Given the description of an element on the screen output the (x, y) to click on. 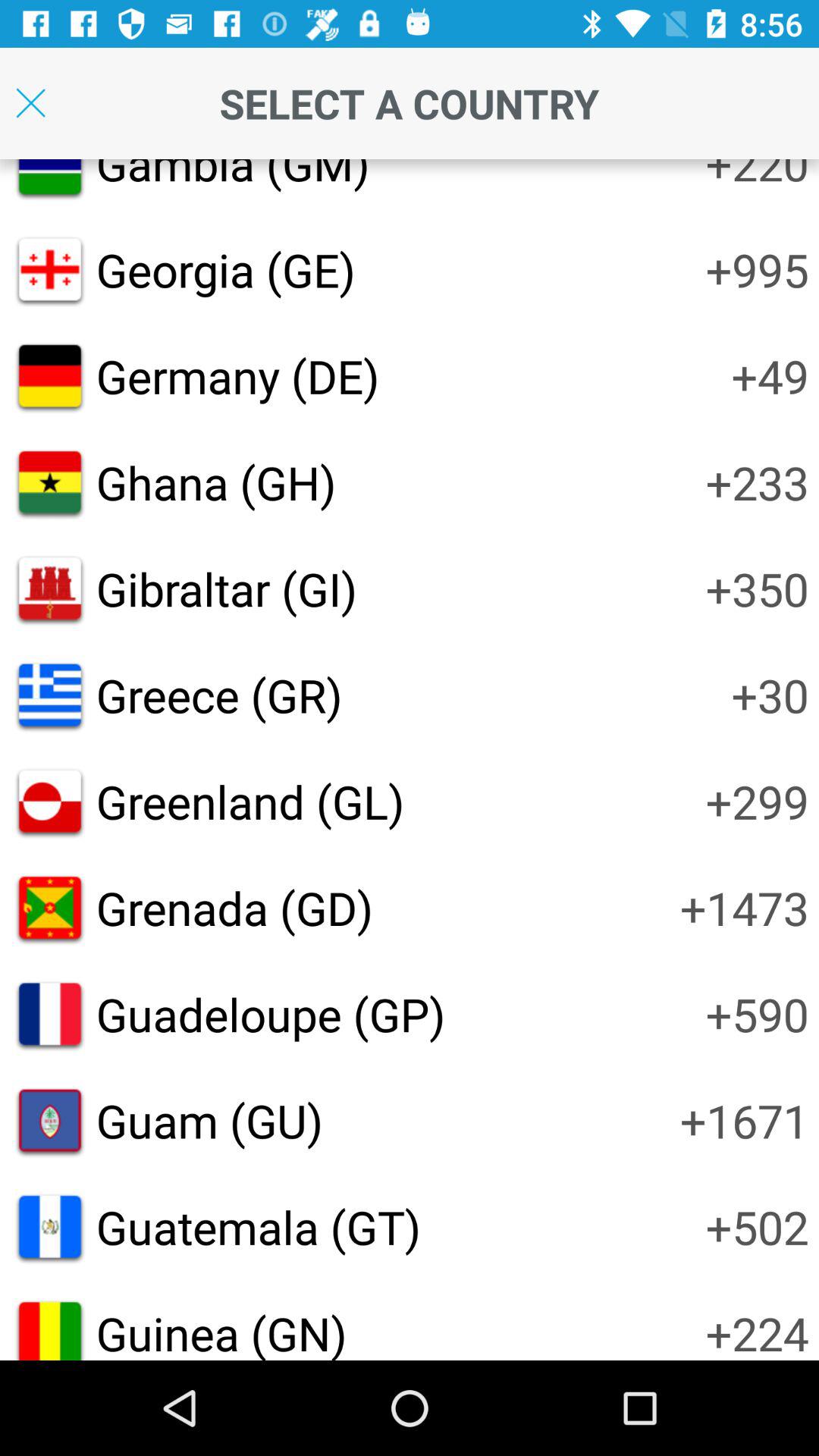
scroll to gambia (gm) (232, 176)
